Given the description of an element on the screen output the (x, y) to click on. 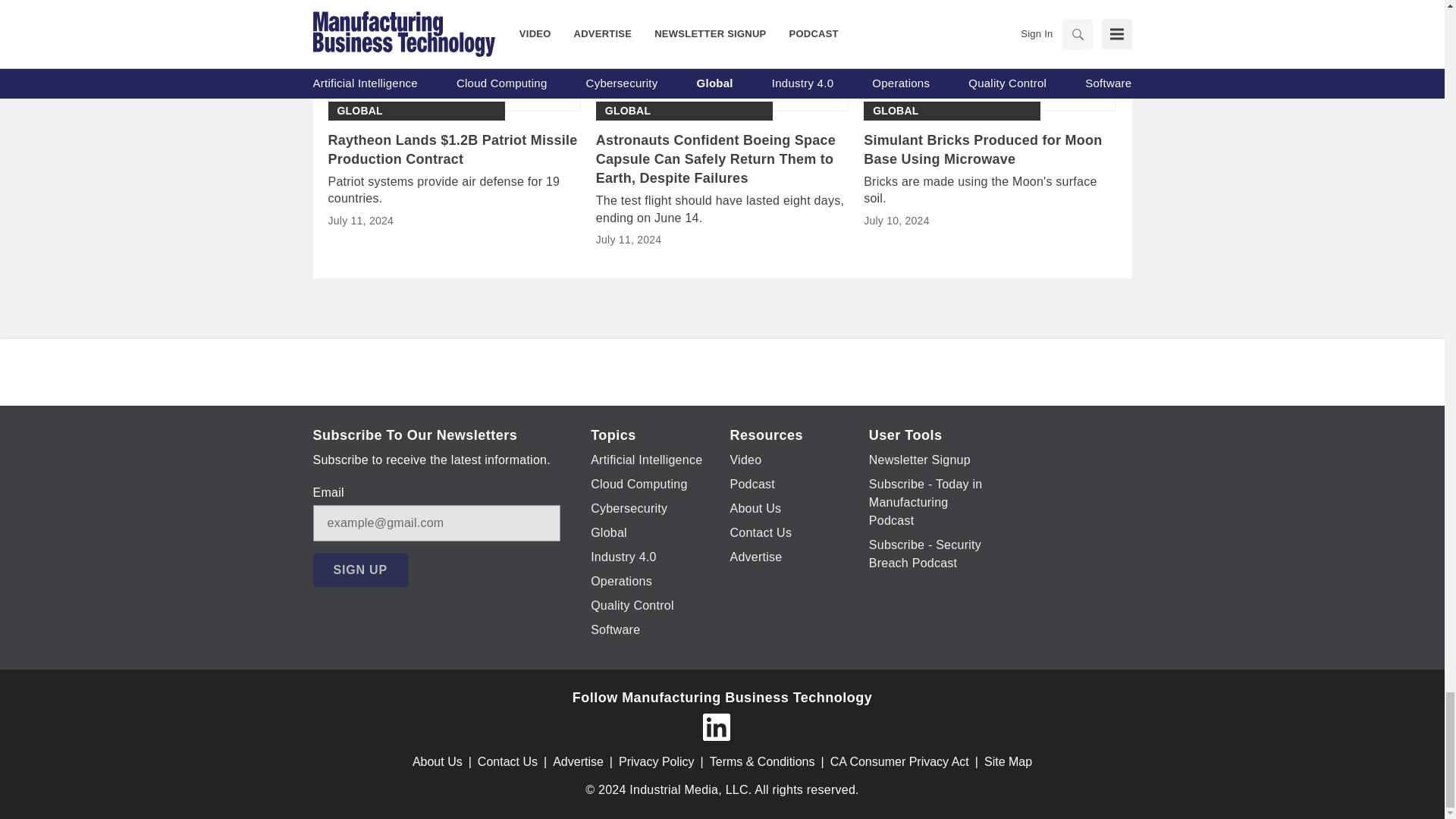
LinkedIn icon (715, 727)
